Given the description of an element on the screen output the (x, y) to click on. 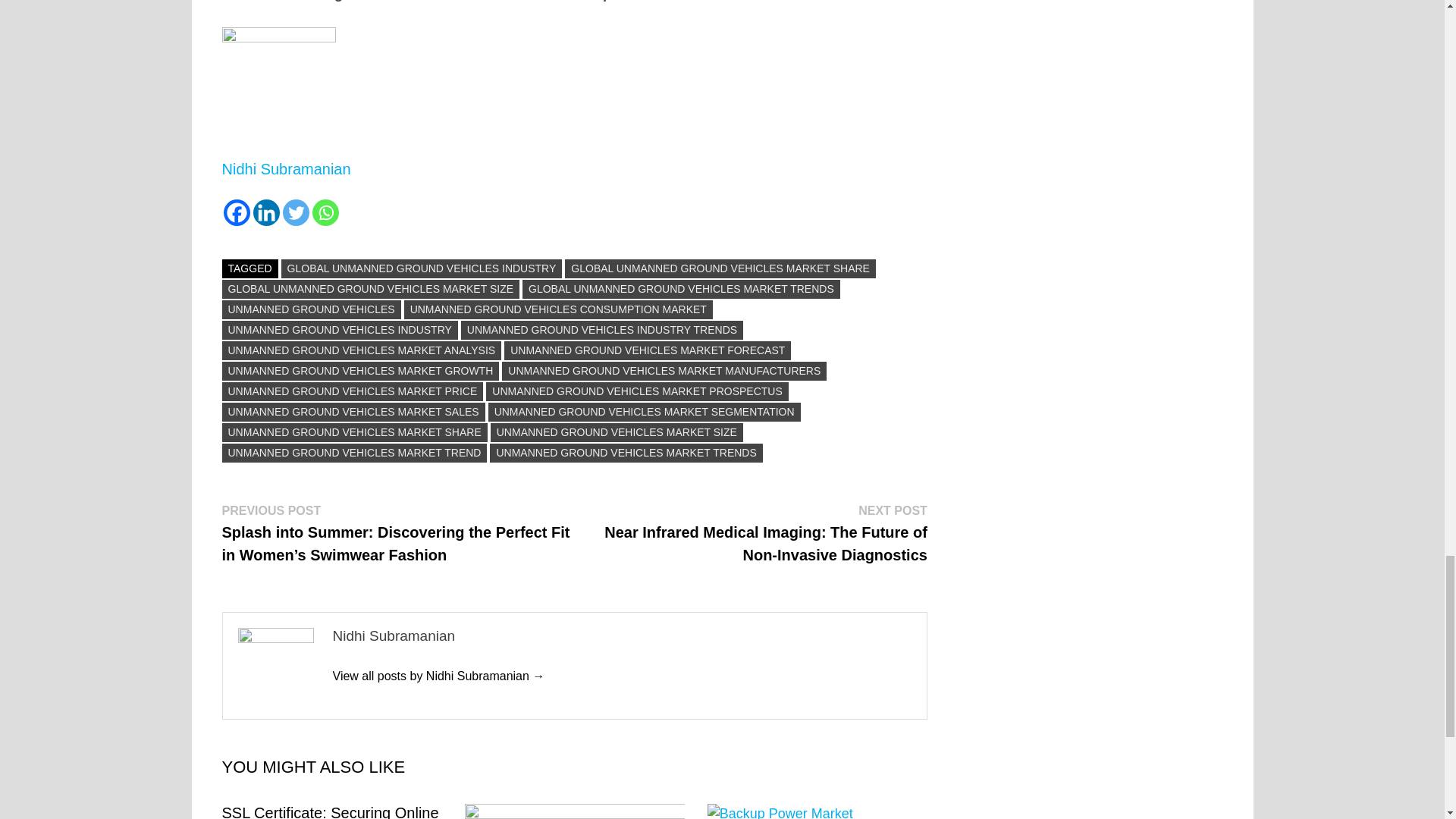
SSL Certificate: Securing Online Transactions (329, 811)
Nidhi Subramanian (437, 675)
Twitter (295, 212)
Whatsapp (326, 212)
Facebook (235, 212)
Linkedin (266, 212)
